Given the description of an element on the screen output the (x, y) to click on. 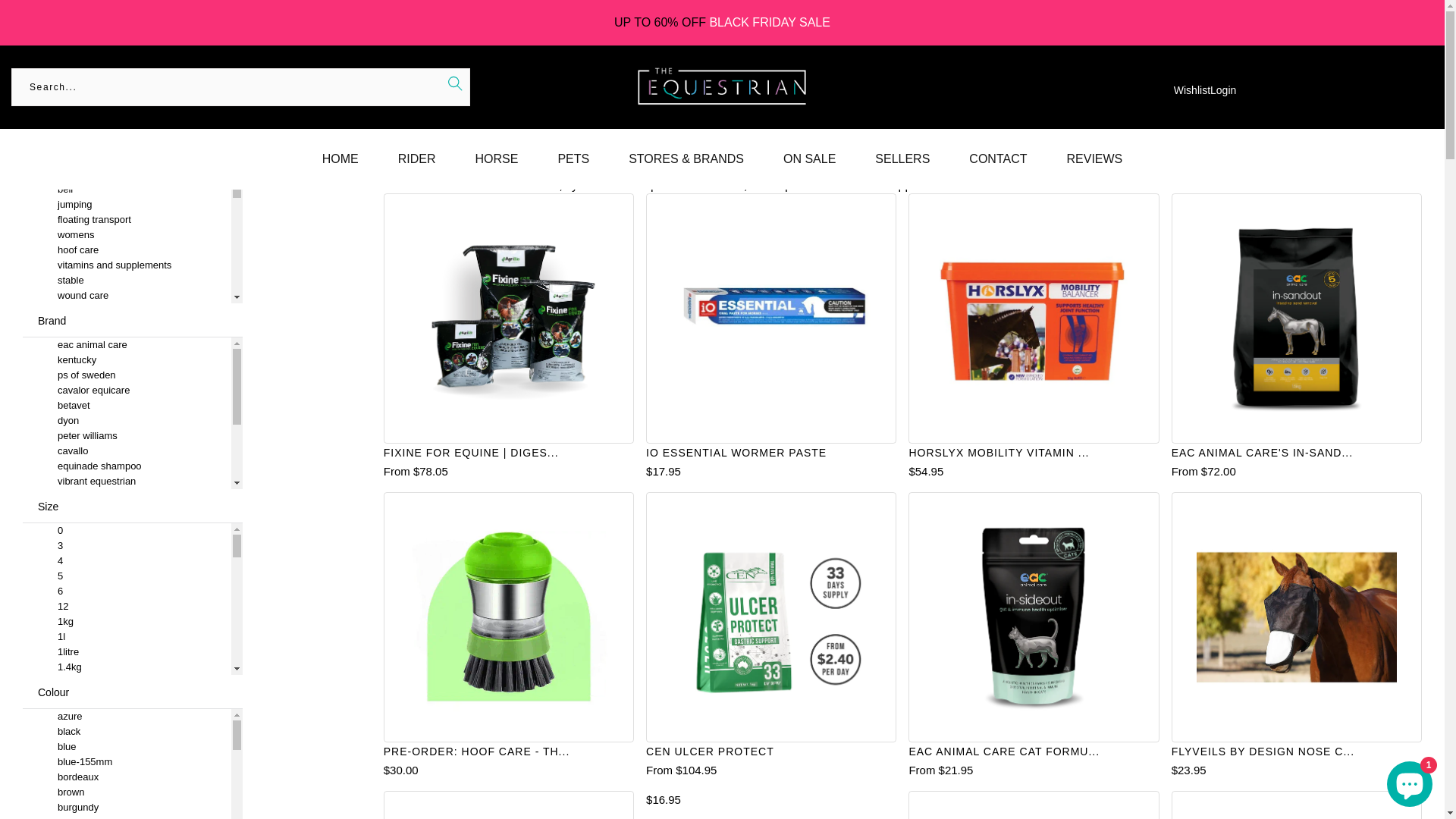
shampoo Element type: text (126, 386)
10.5kg Element type: text (126, 757)
horse treats Element type: text (126, 492)
vitamins and supplements Element type: text (126, 265)
1.8kg Element type: text (126, 712)
bordeaux Element type: text (126, 776)
brown Element type: text (126, 792)
kentucky Element type: text (126, 359)
ulcer treatments Element type: text (126, 629)
1kg Element type: text (126, 621)
anti inflammatory Element type: text (126, 598)
1.4kg Element type: text (126, 666)
hind fetlock Element type: text (126, 401)
feeder Element type: text (126, 674)
equinade shampoo Element type: text (126, 465)
equine vitamins and supplements. Element type: text (865, 184)
arcequine Element type: text (126, 496)
floating transport Element type: text (126, 219)
matchy horse sets Element type: text (126, 462)
biotin Element type: text (126, 568)
IO ESSENTIAL WORMER PASTE Element type: text (736, 452)
ice Element type: text (126, 325)
electrolytes Element type: text (126, 704)
1.68kg Element type: text (126, 697)
1litre Element type: text (126, 651)
bell Element type: text (126, 189)
HORSLYX MOBILITY VITAMIN ... Element type: text (998, 452)
blue-155mm Element type: text (126, 761)
equimax Element type: text (126, 541)
6 Element type: text (126, 591)
joint supplements Element type: text (126, 553)
EAC ANIMAL CARE'S IN-SAND... Element type: text (1261, 452)
12 Element type: text (126, 606)
dressage Element type: text (126, 174)
PRE-ORDER: HOOF CARE - TH... Element type: text (476, 751)
SELLERS Element type: text (902, 159)
REVIEWS Element type: text (1094, 159)
msm Element type: text (126, 522)
vibrant equestrian Element type: text (126, 481)
CONTACT Element type: text (997, 159)
HOME Element type: text (340, 159)
hoof care Element type: text (126, 249)
ps of sweden Element type: text (126, 374)
azure Element type: text (126, 716)
eurohunter Element type: text (126, 587)
fly boots for horses Element type: text (126, 572)
dog treats Element type: text (126, 447)
absorbine Element type: text (126, 556)
4 Element type: text (126, 560)
peter williams Element type: text (126, 435)
stable Element type: text (126, 158)
kelato Element type: text (126, 511)
likit horse treats Element type: text (126, 507)
hoof care Element type: text (482, 184)
ranvet Element type: text (126, 526)
 HOME Element type: text (25, 22)
CLEAR ALL Element type: text (218, 99)
black Element type: text (126, 731)
wormers Element type: text (126, 371)
Shopify online store chat Element type: hover (1409, 780)
betavet Element type: text (126, 405)
5 Element type: text (126, 575)
jumping Element type: text (126, 204)
EAC ANIMAL CARE CAT FORMU... Element type: text (1003, 751)
riding tights Element type: text (126, 310)
toys Element type: text (126, 477)
eac animal care Element type: text (126, 344)
blue Element type: text (126, 746)
10cm Element type: text (126, 788)
10l Element type: text (126, 803)
dog beds Element type: text (126, 431)
0 Element type: text (126, 530)
womens Element type: text (126, 234)
1l Element type: text (126, 636)
100g Element type: text (126, 773)
ON SALE Element type: text (809, 159)
10kg Element type: text (126, 742)
horse feed Element type: text (126, 416)
cavallo Element type: text (126, 450)
1.5kg Element type: text (126, 682)
FIXINE FOR EQUINE | DIGES... Element type: text (470, 452)
psyllium husk Element type: text (126, 689)
UP TO 60% OFF BLACK FRIDAY SALE Element type: text (722, 21)
1.8kgs Element type: text (126, 727)
brushes Element type: text (126, 613)
cavalor equicare Element type: text (126, 390)
toxin binder Element type: text (126, 659)
FLYVEILS BY DESIGN NOSE C... Element type: text (1262, 751)
stable Element type: text (126, 280)
bonnets Element type: text (126, 340)
wound care Element type: text (126, 295)
dyon Element type: text (126, 420)
CEN ULCER PROTECT Element type: text (710, 751)
3 Element type: text (126, 545)
msm for dogs Element type: text (126, 538)
calming supplements Element type: text (126, 583)
hemp oil for dogs Element type: text (126, 644)
burgundy Element type: text (126, 807)
supplements and medicine Element type: text (126, 356)
